Given the description of an element on the screen output the (x, y) to click on. 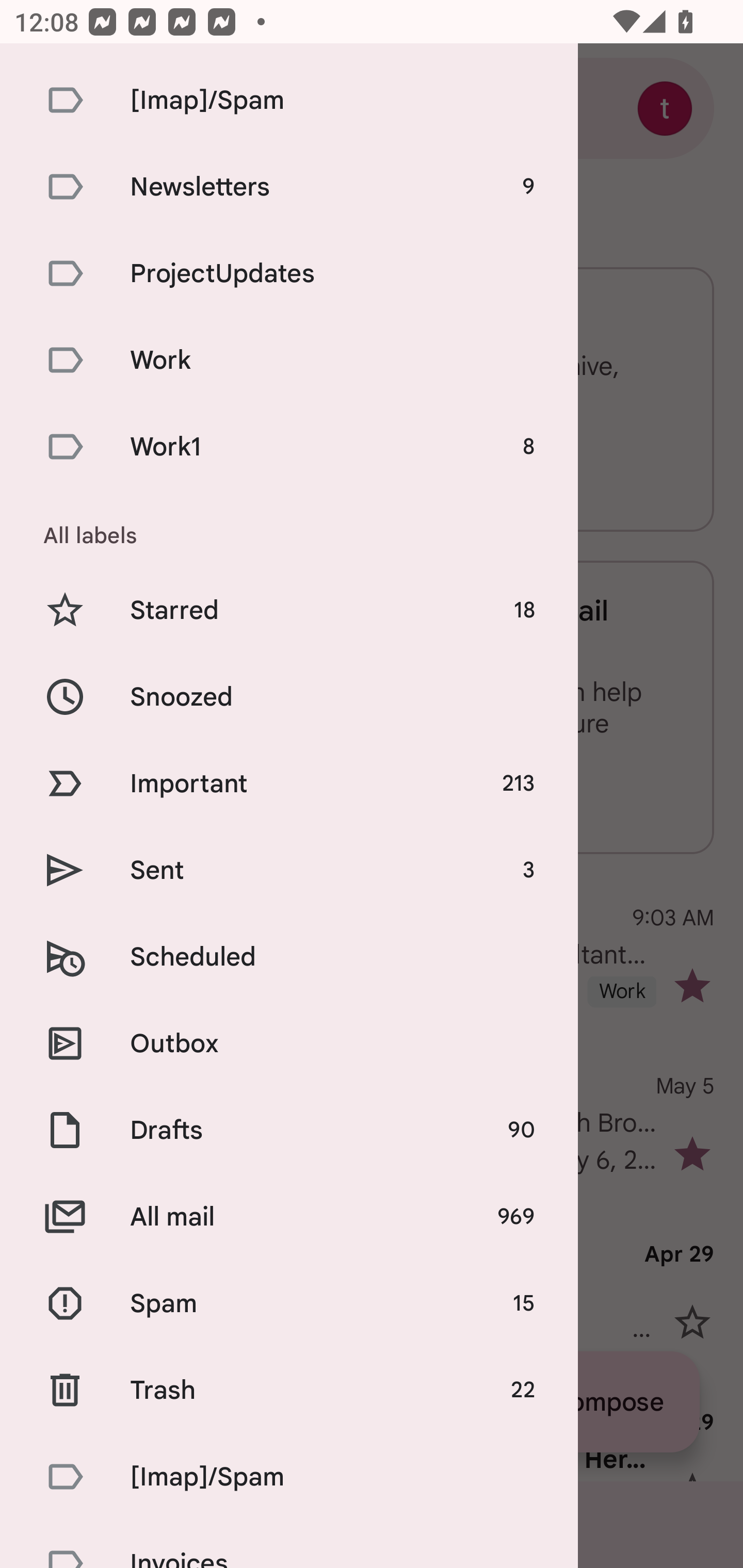
[Imap]/Spam (289, 99)
Newsletters 9 (289, 186)
ProjectUpdates (289, 273)
Work (289, 359)
Work1 8 (289, 445)
Starred 18 (289, 610)
Snoozed (289, 696)
Important 213 (289, 783)
Sent 3 (289, 870)
Scheduled (289, 957)
Outbox (289, 1043)
Drafts 90 (289, 1129)
All mail 969 (289, 1216)
Spam 15 (289, 1303)
Trash 22 (289, 1389)
[Imap]/Spam (289, 1476)
